Given the description of an element on the screen output the (x, y) to click on. 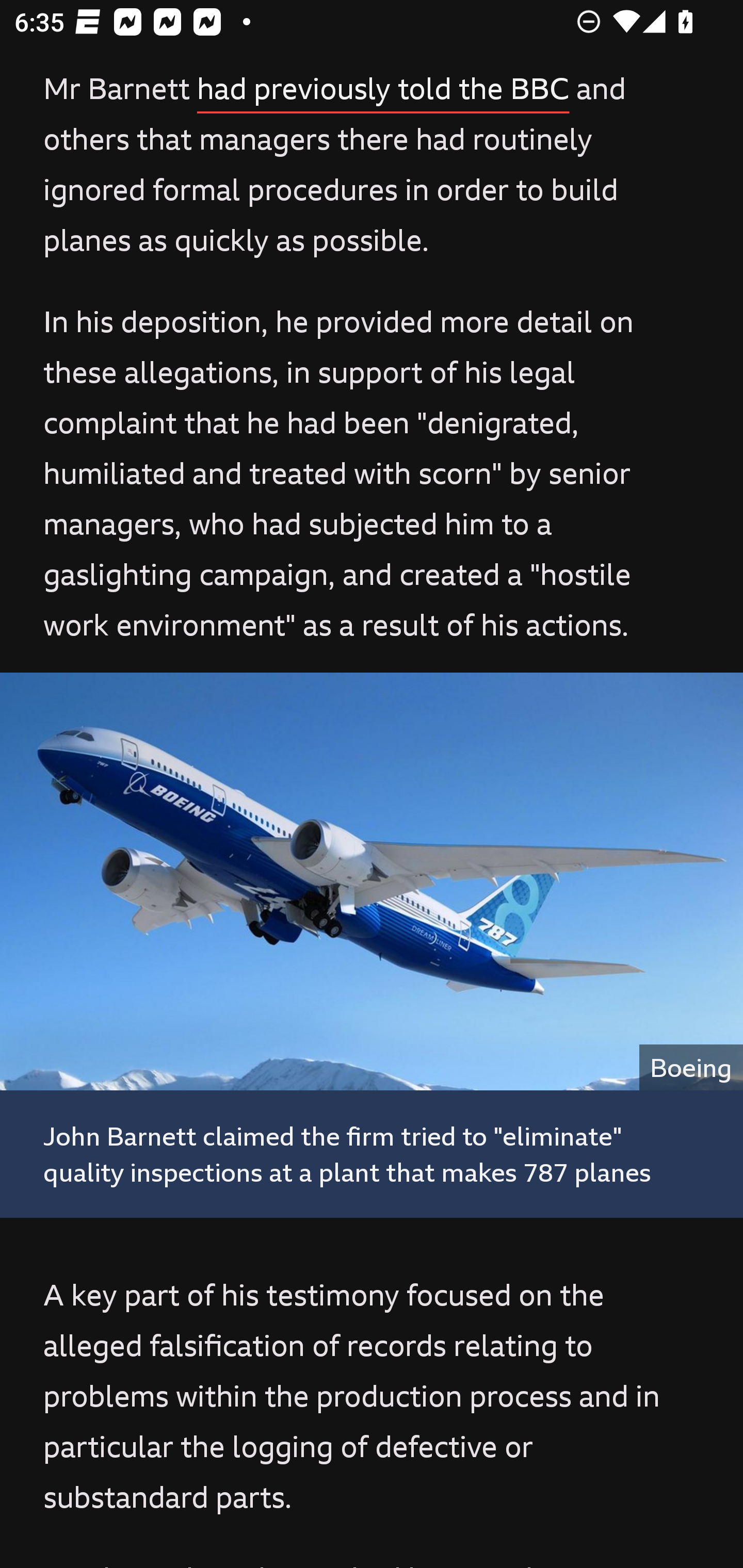
Boeing 787-8 Dreamliner (371, 880)
